Given the description of an element on the screen output the (x, y) to click on. 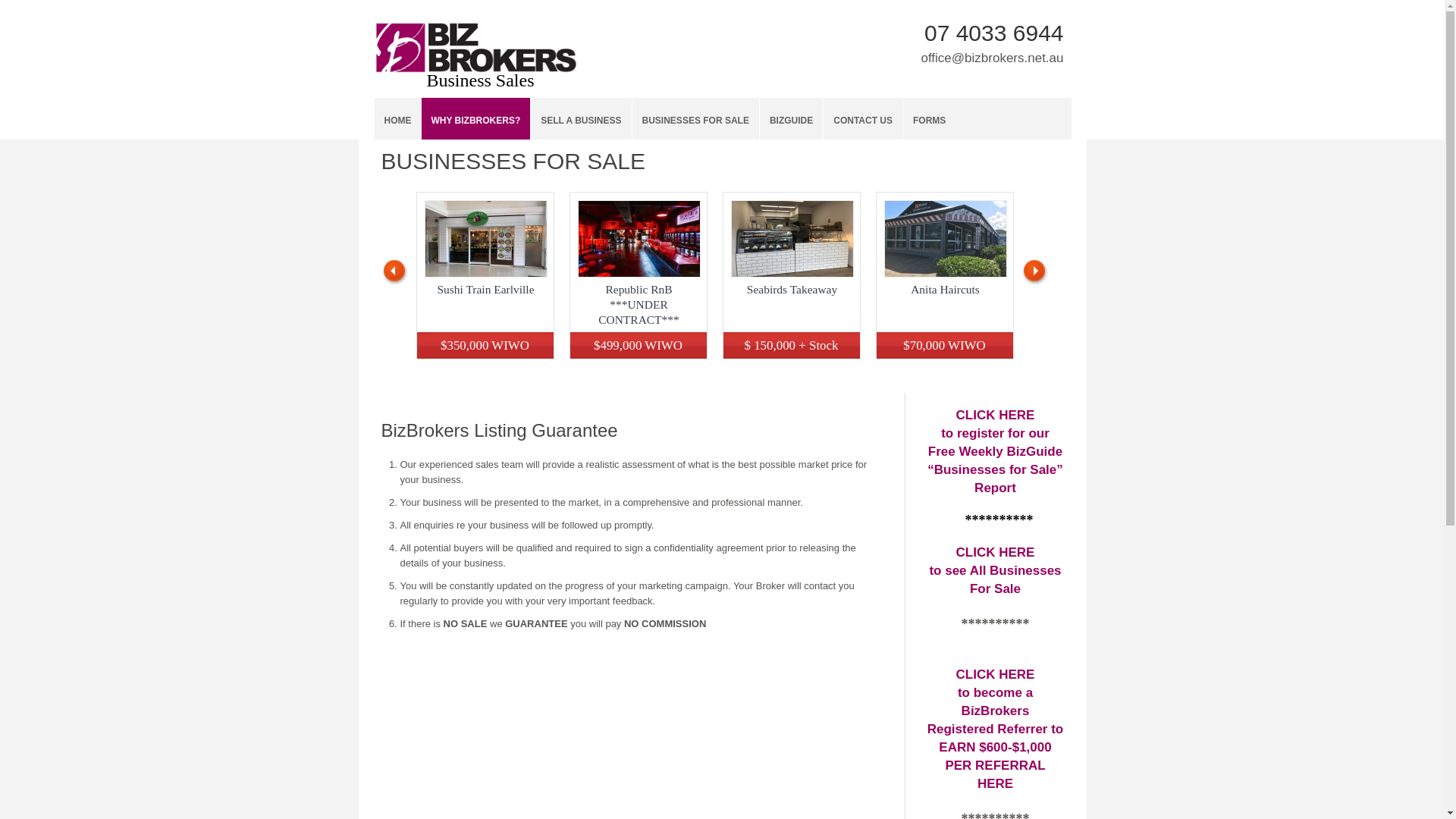
Seabirds Takeaway Element type: hover (792, 238)
Anita Haircuts Element type: hover (945, 238)
office@bizbrokers.net.au Element type: text (991, 57)
BUSINESSES FOR SALE Element type: text (695, 118)
Republic RnB ***UNDER CONTRACT*** Element type: text (638, 304)
HOME Element type: text (397, 118)
CONTACT US Element type: text (862, 118)
Seabirds Takeaway Element type: text (791, 288)
Sushi Train Earlville Element type: text (484, 288)
WHY BIZBROKERS? Element type: text (475, 118)
  Element type: text (475, 30)
SELL A BUSINESS Element type: text (580, 118)
CLICK HERE
to see All Businesses For Sale Element type: text (994, 570)
Republic RnB ***UNDER CONTRACT*** Element type: hover (638, 238)
FORMS Element type: text (929, 118)
Anita Haircuts Element type: text (944, 288)
Sushi Train Earlville Element type: hover (485, 238)
BIZGUIDE Element type: text (790, 118)
